Given the description of an element on the screen output the (x, y) to click on. 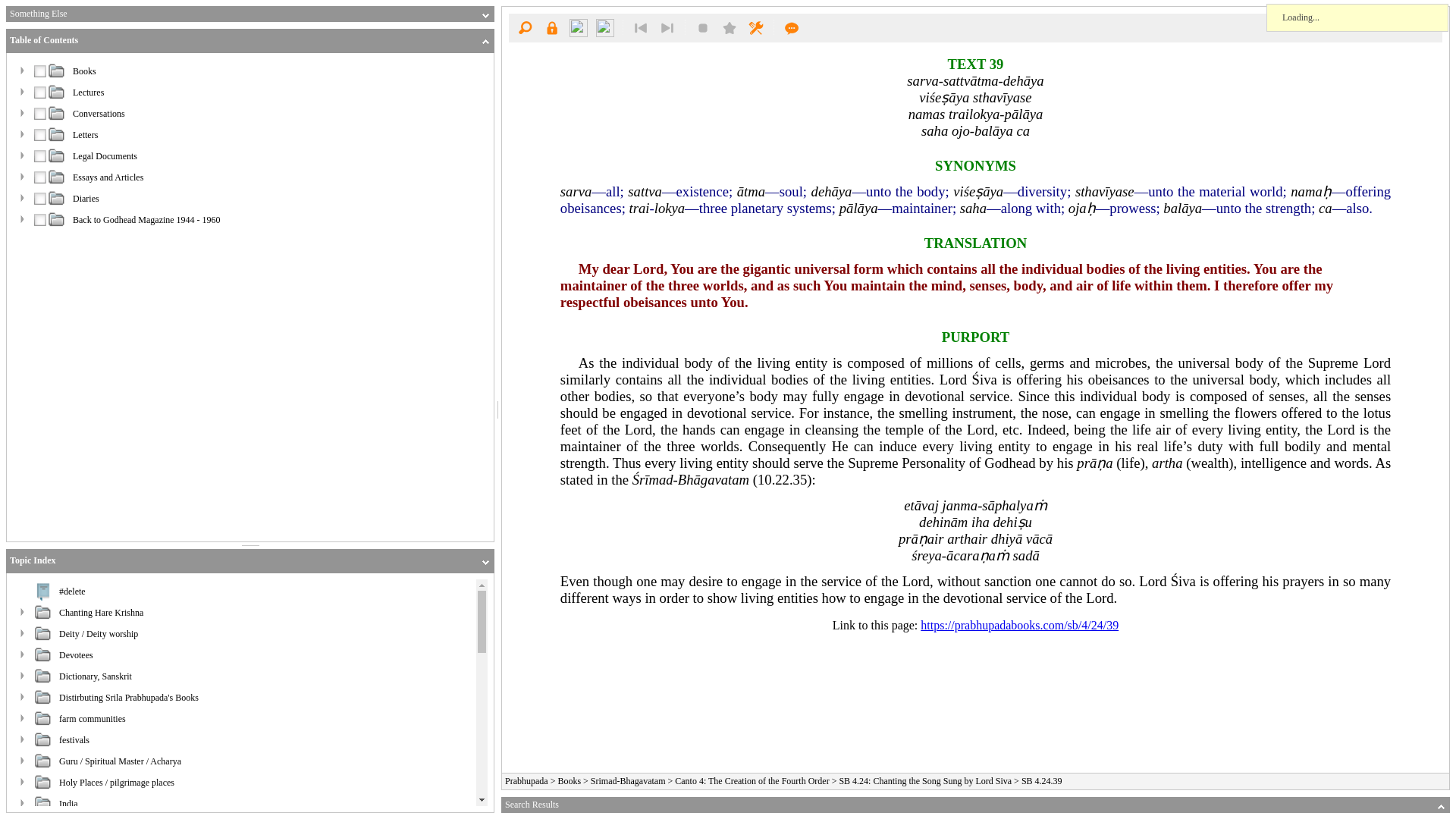
Login (551, 27)
Settings (755, 27)
Previous Search Hit (640, 27)
Previous Document (578, 27)
Highlight Text (703, 27)
Help (791, 27)
Next Document (604, 27)
Next Search Hit (666, 27)
Bookmark (729, 27)
Search (525, 27)
